Given the description of an element on the screen output the (x, y) to click on. 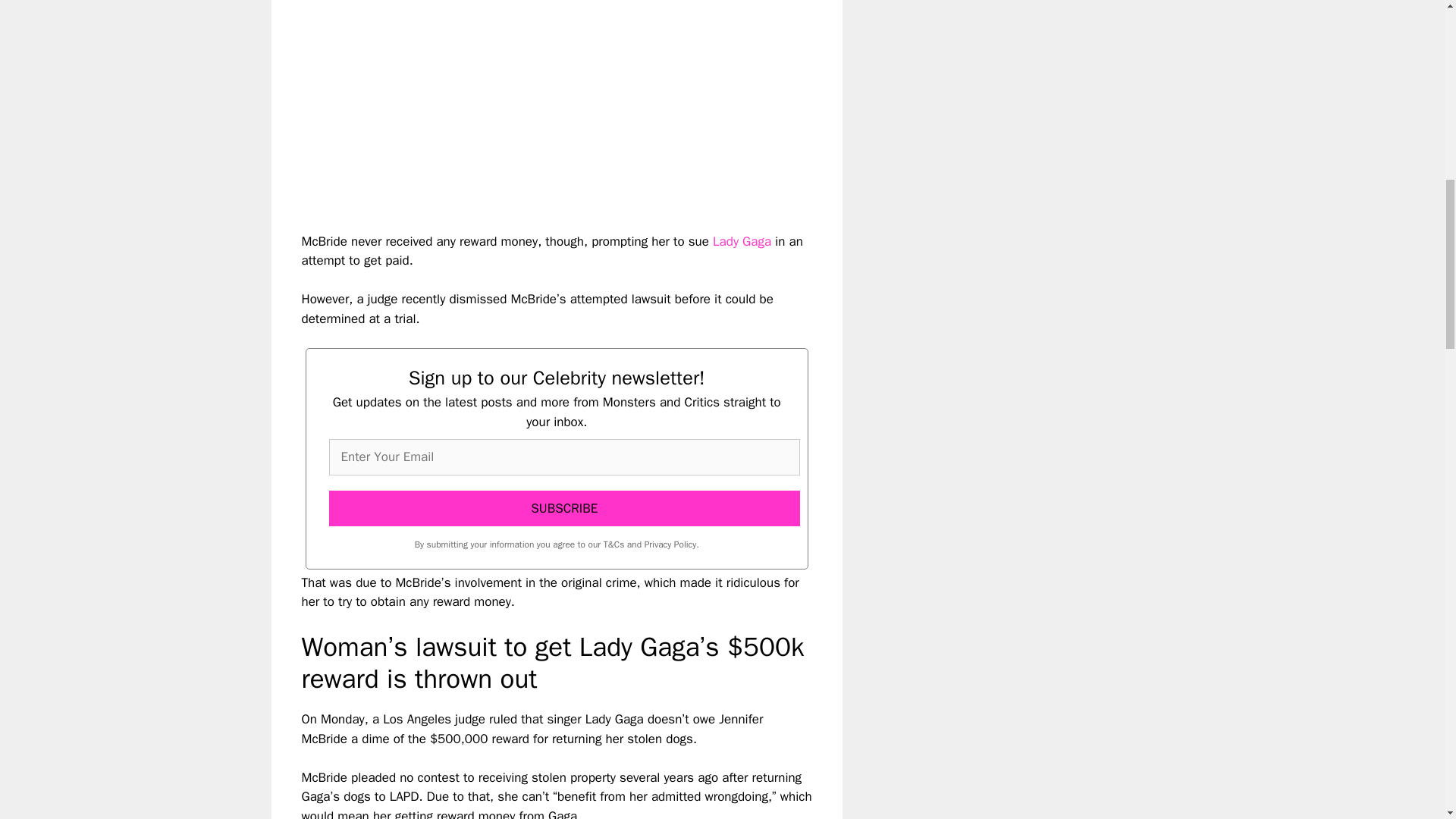
YouTube video player (513, 103)
SUBSCRIBE (564, 508)
SUBSCRIBE (564, 508)
Lady Gaga (742, 241)
